Given the description of an element on the screen output the (x, y) to click on. 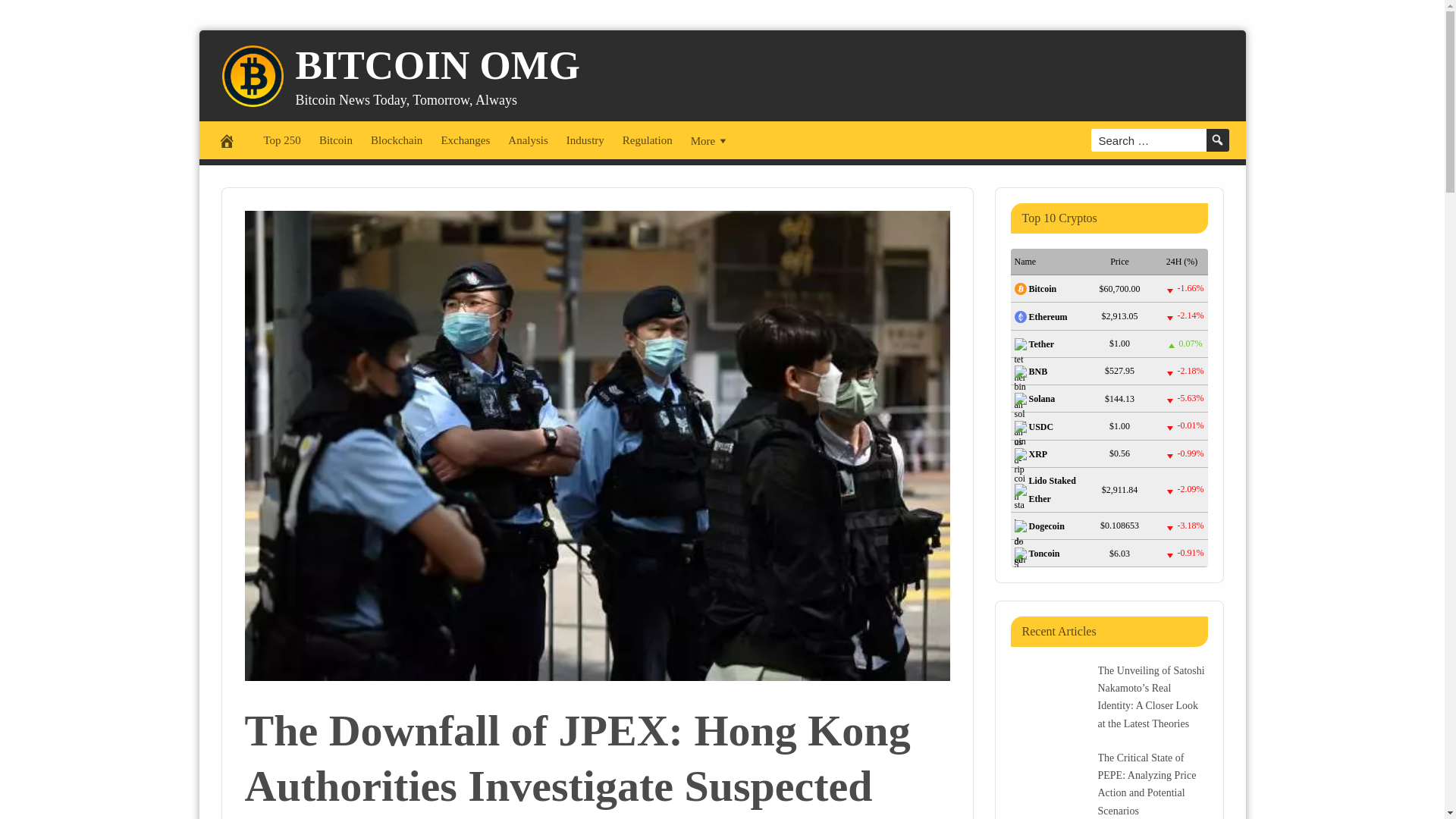
More (710, 139)
Top 250 (282, 139)
Bitcoin (335, 139)
Industry (584, 139)
Exchanges (464, 139)
Blockchain (395, 139)
BITCOIN OMG (437, 64)
Analysis (528, 139)
Regulation (646, 139)
